Given the description of an element on the screen output the (x, y) to click on. 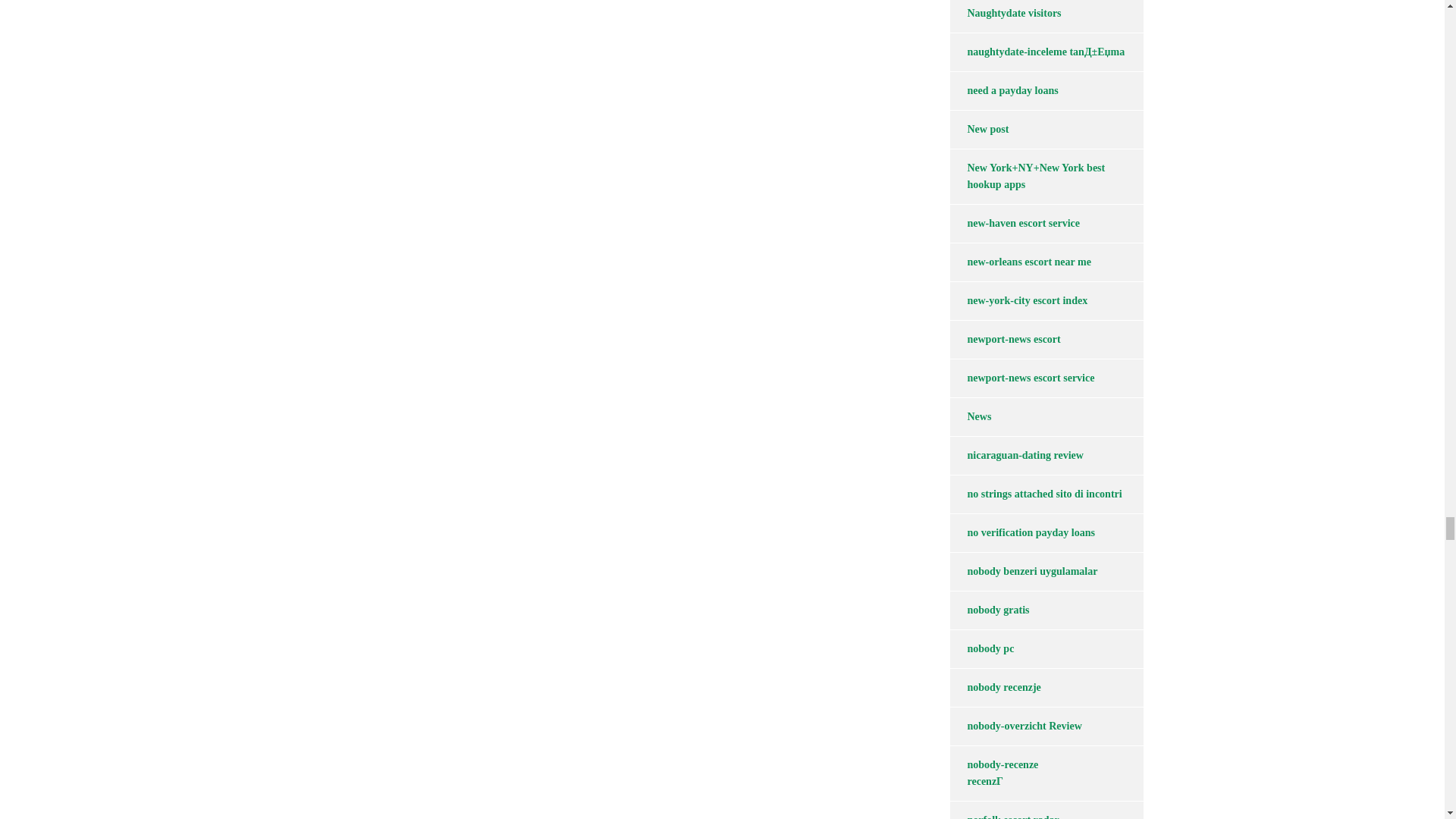
News (970, 416)
